Given the description of an element on the screen output the (x, y) to click on. 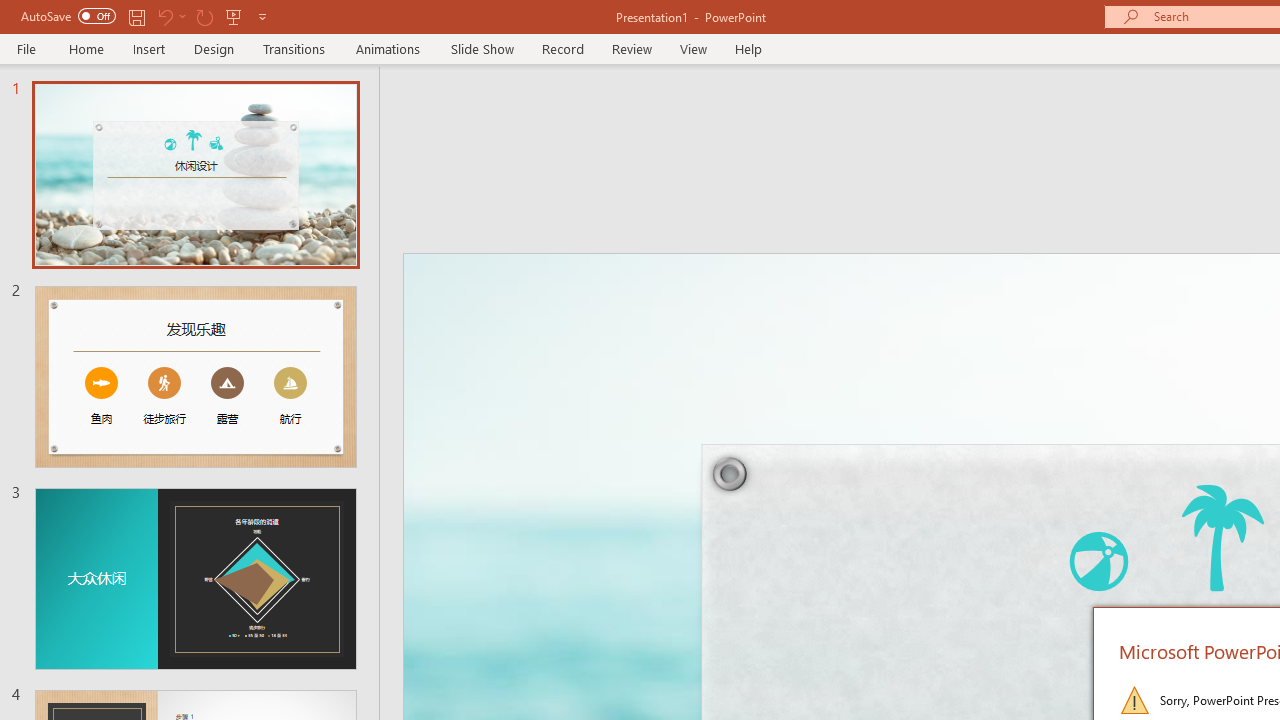
Warning Icon (1134, 699)
